Given the description of an element on the screen output the (x, y) to click on. 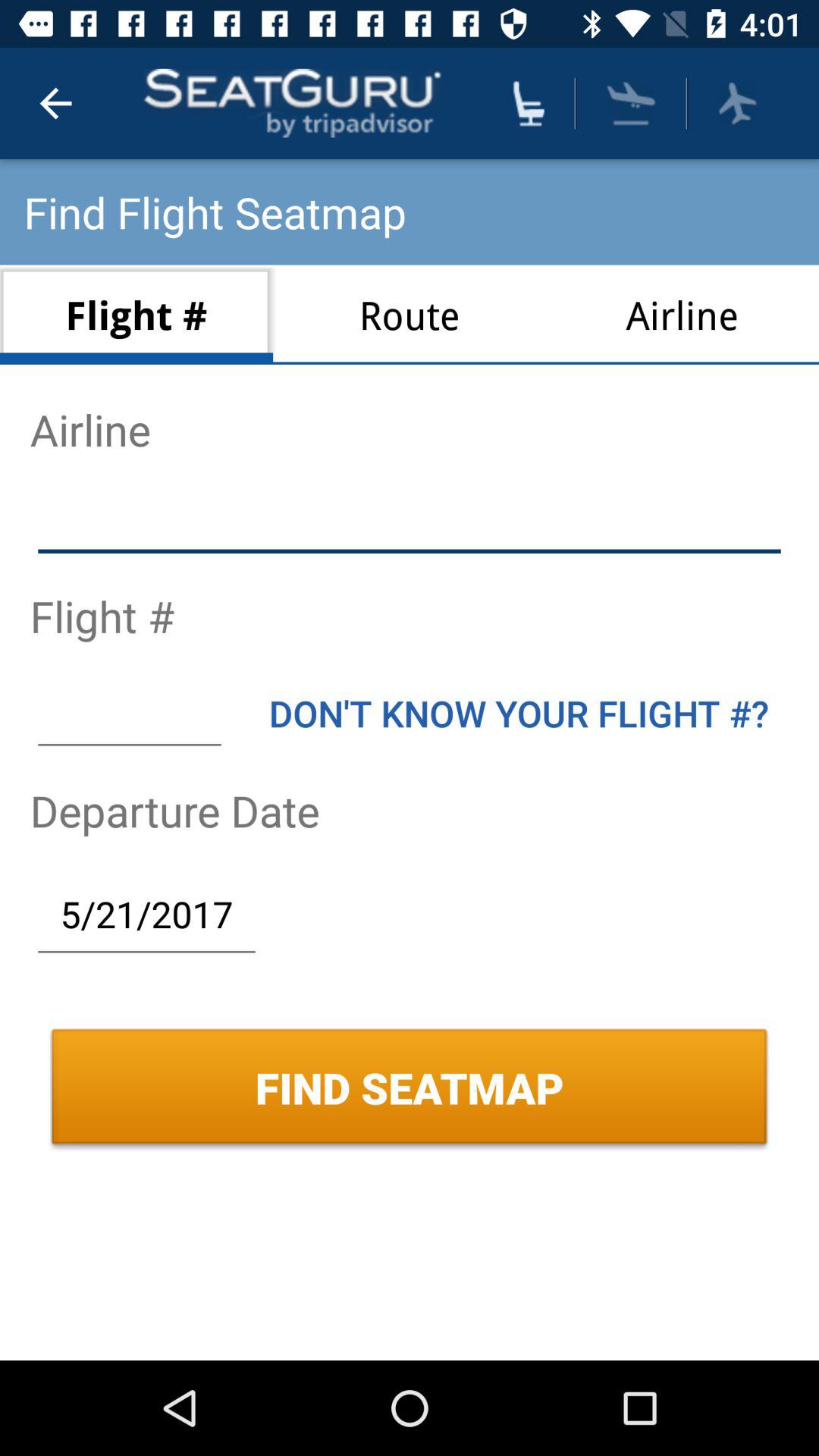
flight airline (409, 522)
